Given the description of an element on the screen output the (x, y) to click on. 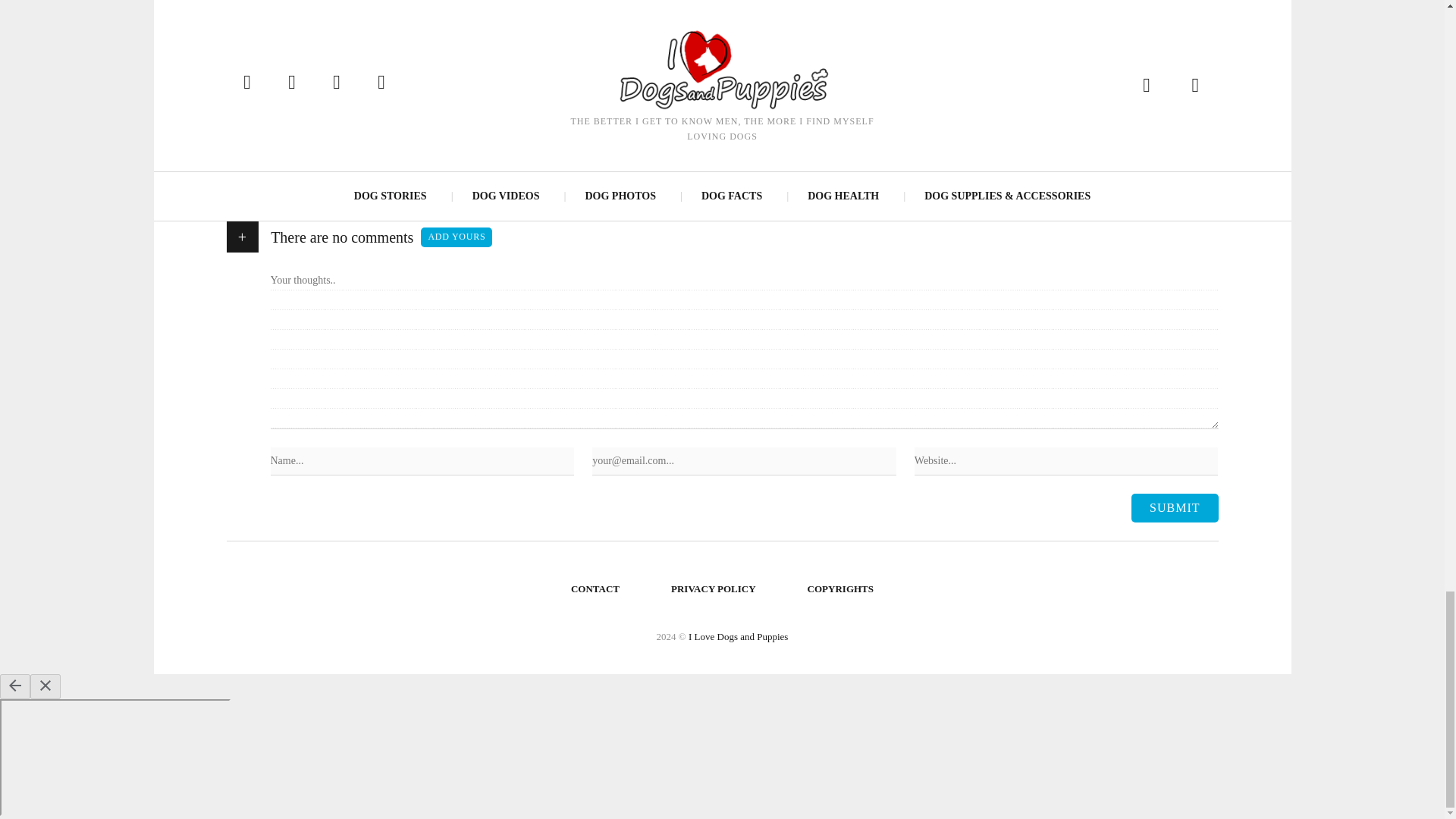
Submit (1174, 507)
ADD YOURS (456, 237)
Submit (1174, 507)
CONTACT (595, 588)
Share (505, 83)
PRIVACY POLICY (714, 588)
COPYRIGHTS (839, 588)
DOG STORIES (344, 154)
View all posts in Dog Stories (344, 154)
Tweet (979, 83)
I Love Dogs and Puppies (737, 636)
